Given the description of an element on the screen output the (x, y) to click on. 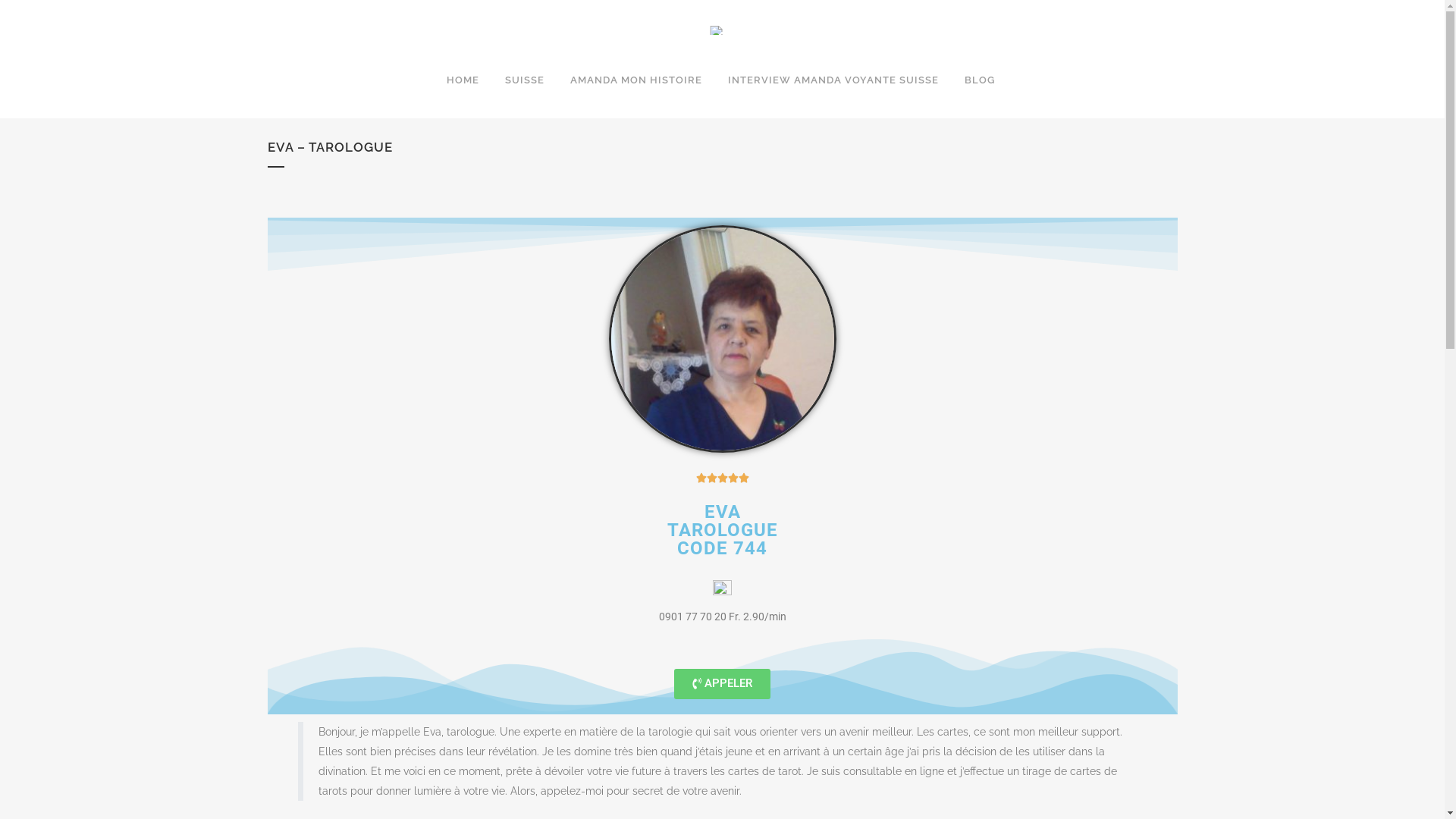
AMANDA MON HISTOIRE Element type: text (636, 80)
SUISSE Element type: text (524, 80)
APPELER Element type: text (722, 683)
HOME Element type: text (462, 80)
INTERVIEW AMANDA VOYANTE SUISSE Element type: text (833, 80)
EVA
TAROLOGUE
CODE 744 Element type: text (722, 529)
BLOG Element type: text (979, 80)
